Given the description of an element on the screen output the (x, y) to click on. 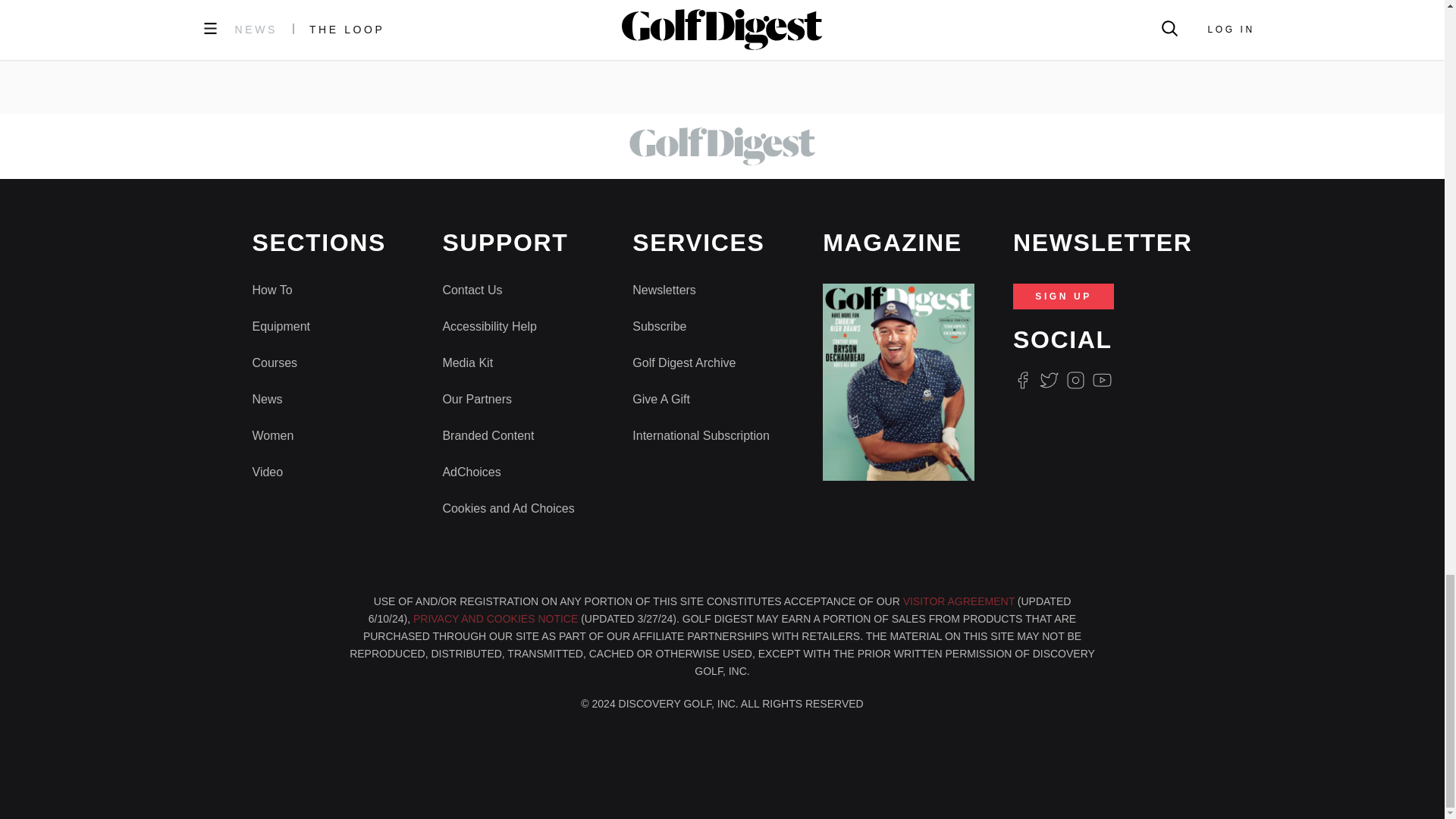
Instagram Logo (1074, 380)
Facebook Logo (1022, 380)
Twitter Logo (1048, 380)
Youtube Icon (1102, 380)
